Given the description of an element on the screen output the (x, y) to click on. 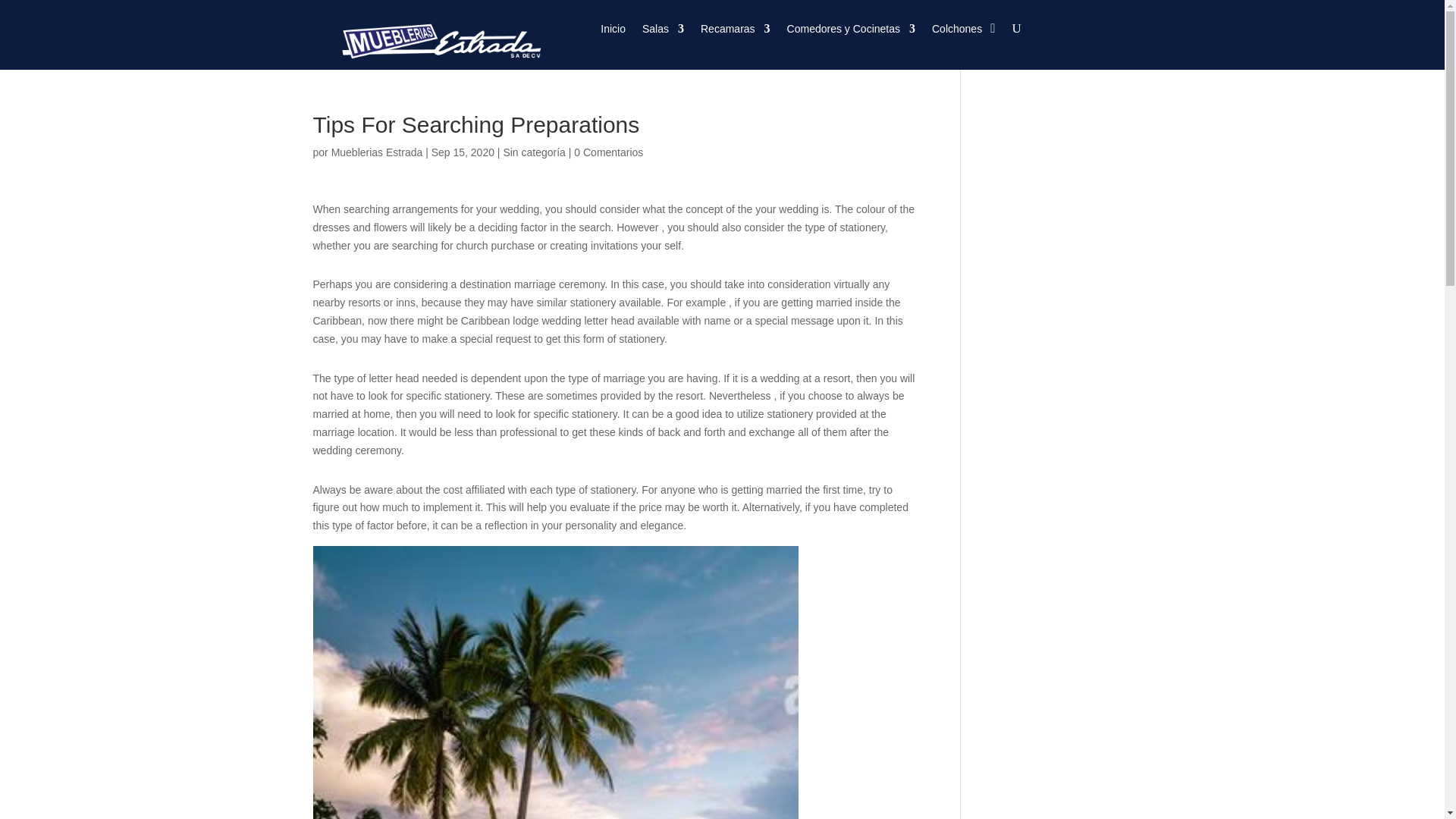
Recamaras (735, 31)
Colchones (956, 31)
0 Comentarios (608, 152)
mueblerias estrada logoMesa de trabajo 5 (433, 38)
Mensajes de Mueblerias Estrada (377, 152)
Inicio (612, 31)
Salas (663, 31)
Mueblerias Estrada (377, 152)
Comedores y Cocinetas (851, 31)
